Given the description of an element on the screen output the (x, y) to click on. 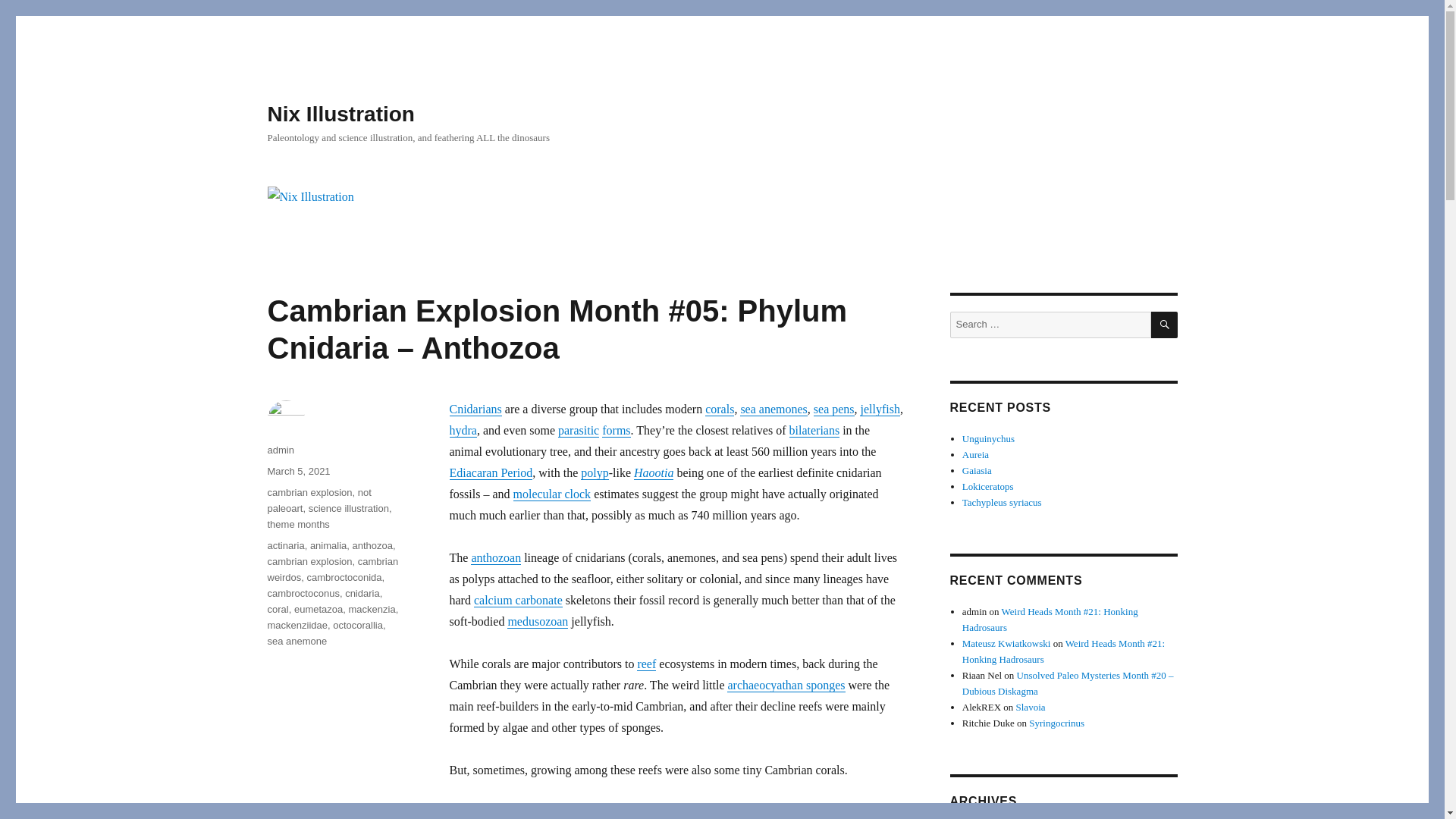
jellyfish (879, 408)
molecular clock (551, 493)
science illustration (348, 508)
Cnidarians (474, 408)
Ediacaran Period (490, 472)
Haootia (652, 472)
medusozoan (536, 621)
animalia (328, 545)
not paleoart (318, 500)
reef (646, 663)
sea anemones (772, 408)
anthozoan (495, 557)
theme months (297, 523)
hydra (462, 430)
cambrian explosion (309, 491)
